Given the description of an element on the screen output the (x, y) to click on. 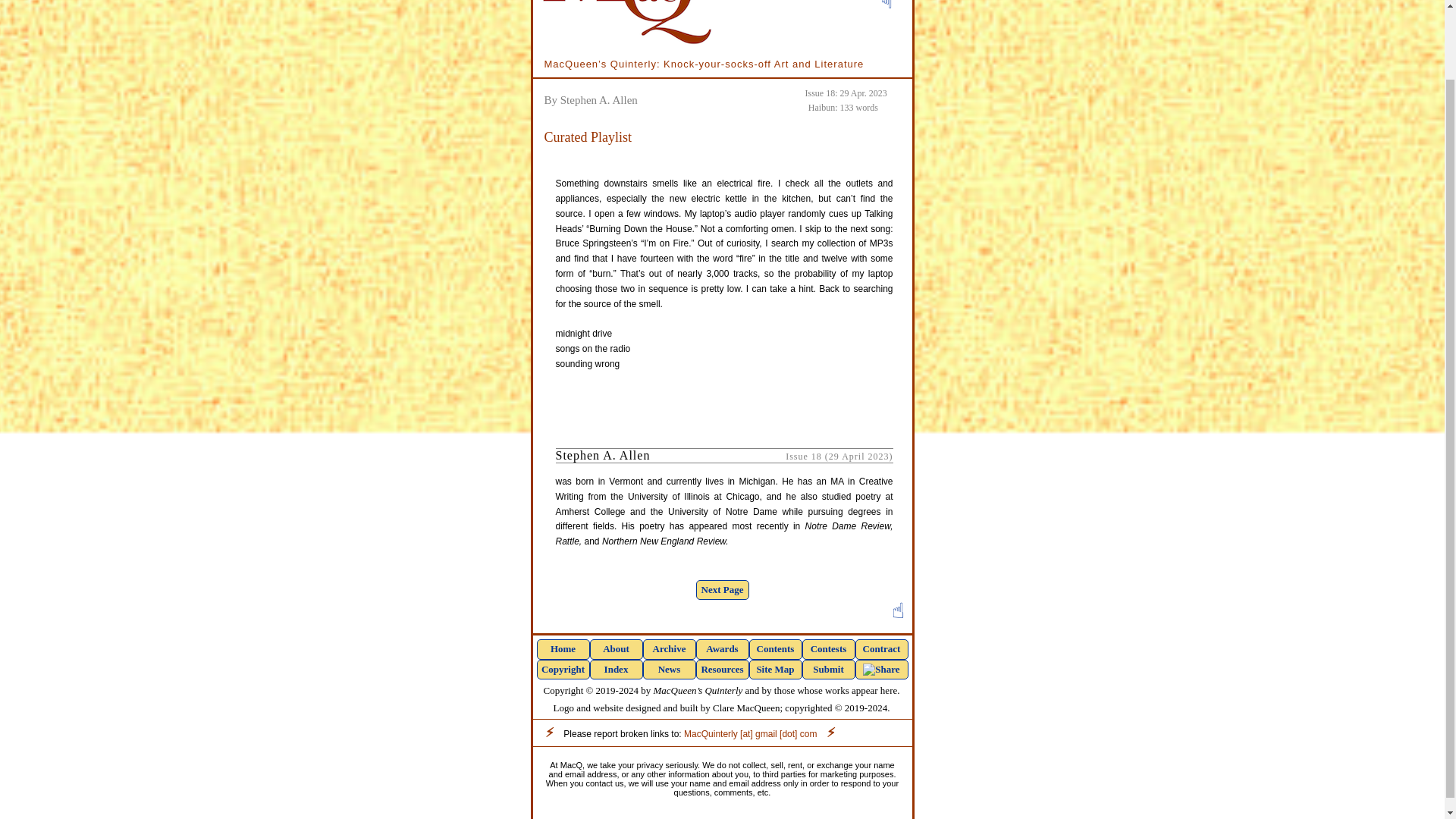
Archive (669, 649)
News (669, 669)
Home (563, 649)
Next Page (722, 589)
Copyright (563, 669)
Awards (722, 649)
Contract (882, 649)
Resources (722, 669)
Submit (829, 669)
About (616, 649)
